Given the description of an element on the screen output the (x, y) to click on. 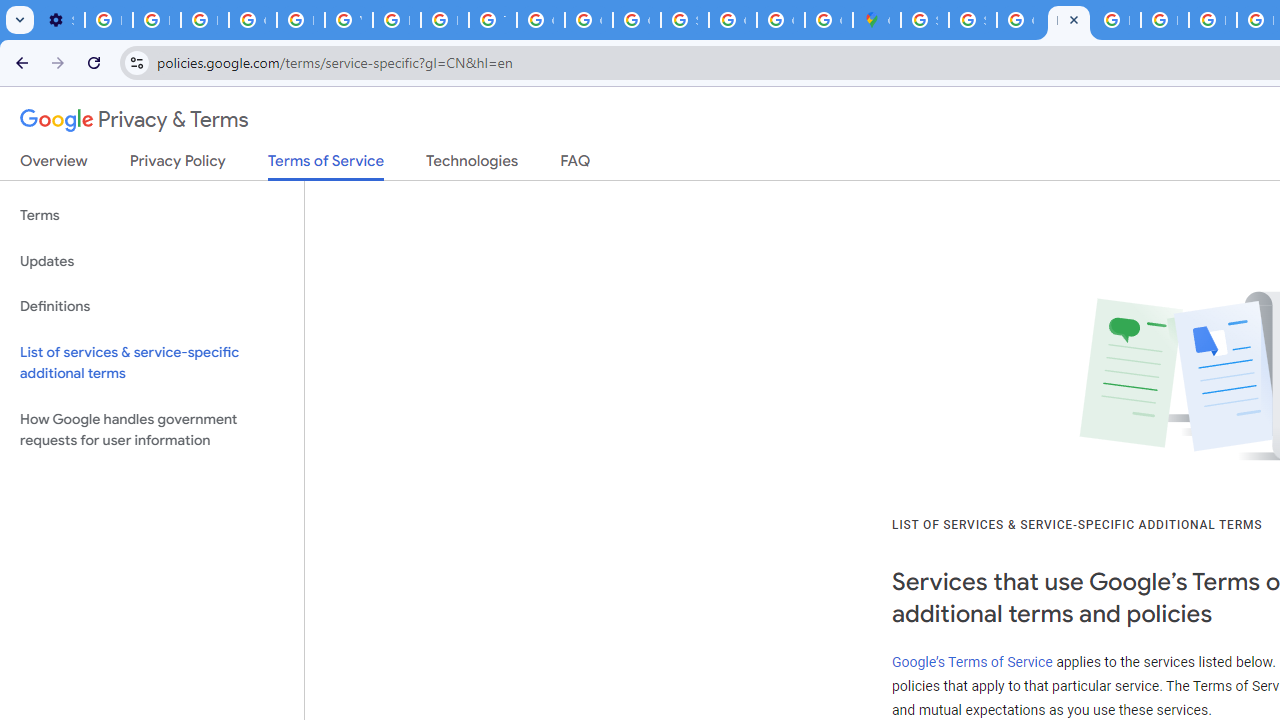
Sign in - Google Accounts (684, 20)
Blogger Policies and Guidelines - Transparency Center (1116, 20)
Privacy Help Center - Policies Help (1212, 20)
Sign in - Google Accounts (924, 20)
